Given the description of an element on the screen output the (x, y) to click on. 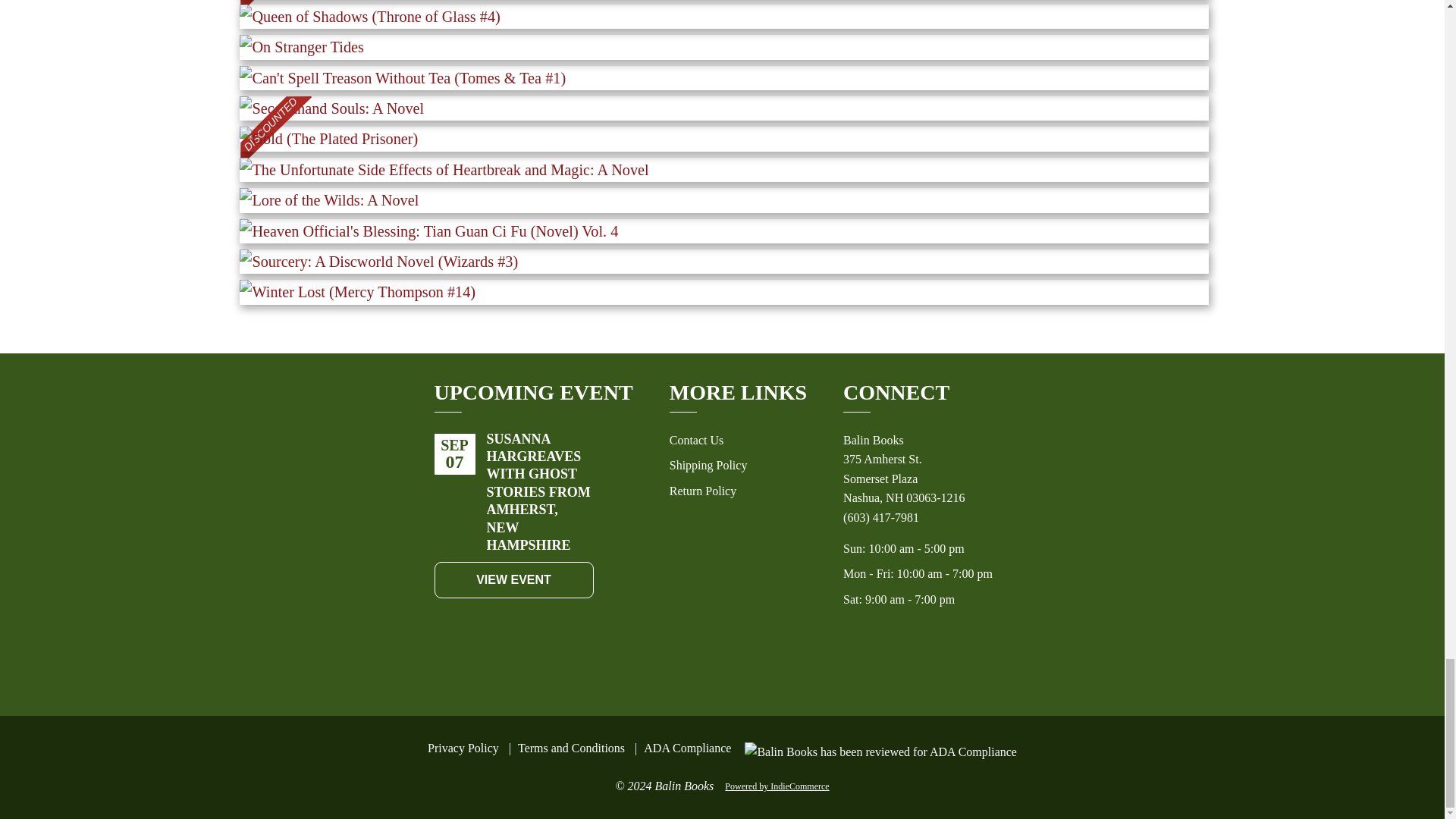
Connect with Twitter (959, 662)
Connect with Facebook (892, 662)
Connect with Instagram (926, 662)
